Given the description of an element on the screen output the (x, y) to click on. 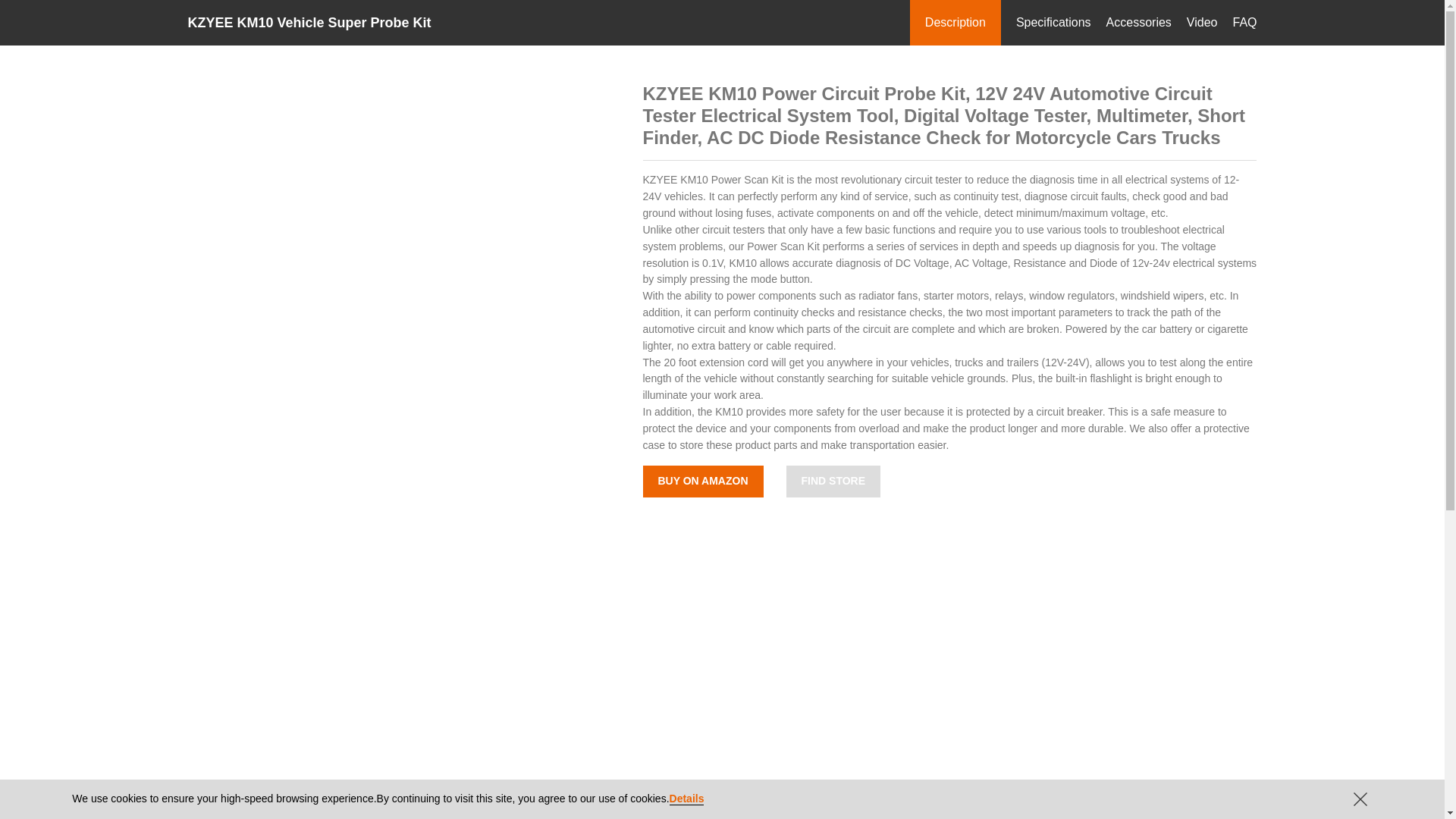
Details (686, 798)
Accessories (1139, 22)
Specifications (1053, 22)
details (686, 798)
BUY ON AMAZON (703, 480)
FIND STORE (832, 480)
Description (954, 22)
